Given the description of an element on the screen output the (x, y) to click on. 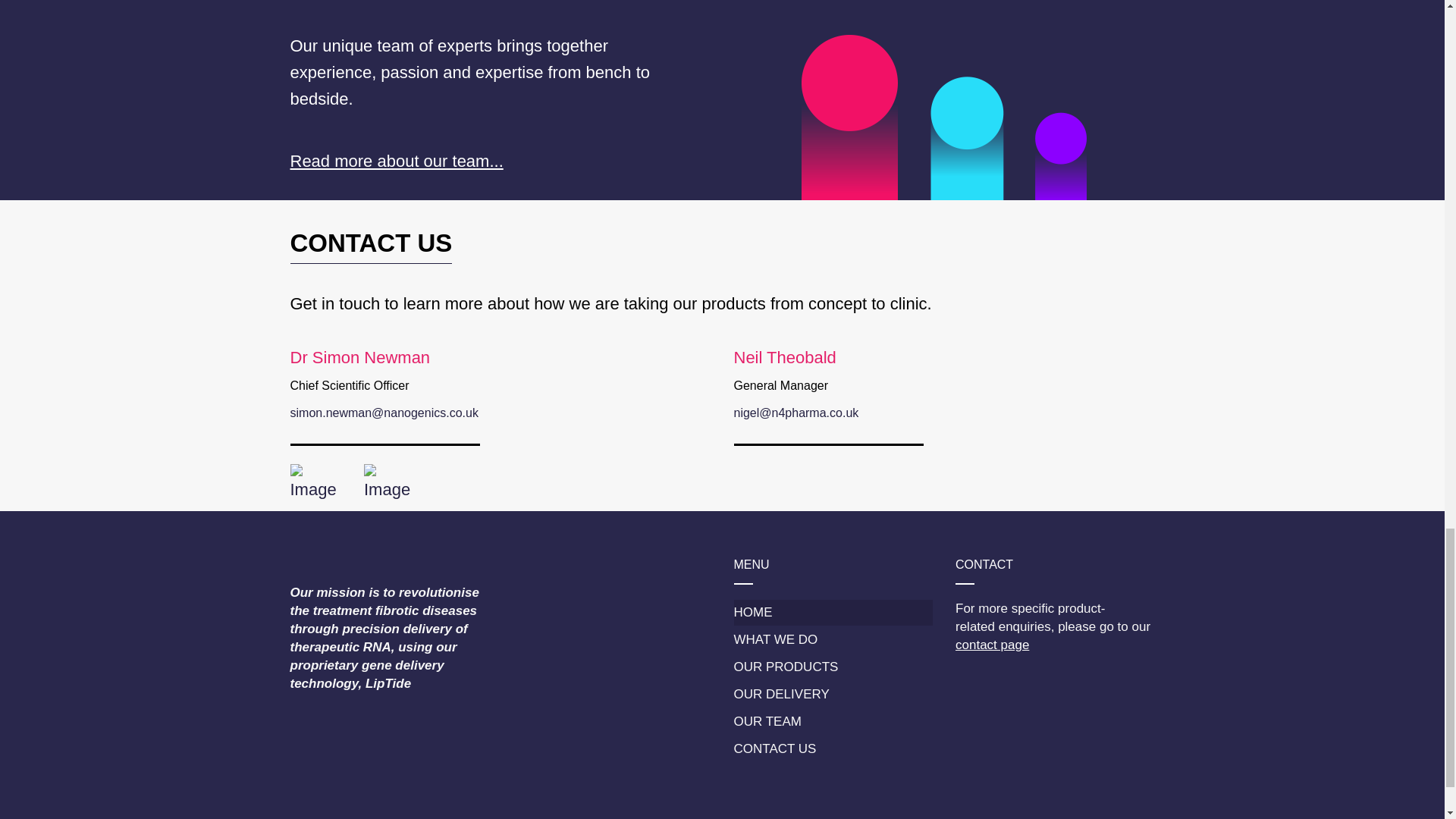
contact page (992, 644)
HOME (833, 612)
OUR TEAM (833, 721)
OUR PRODUCTS (833, 667)
Contact us (992, 644)
WHAT WE DO (833, 639)
CONTACT US (833, 749)
Read more about our team... (395, 160)
OUR DELIVERY (833, 694)
